Given the description of an element on the screen output the (x, y) to click on. 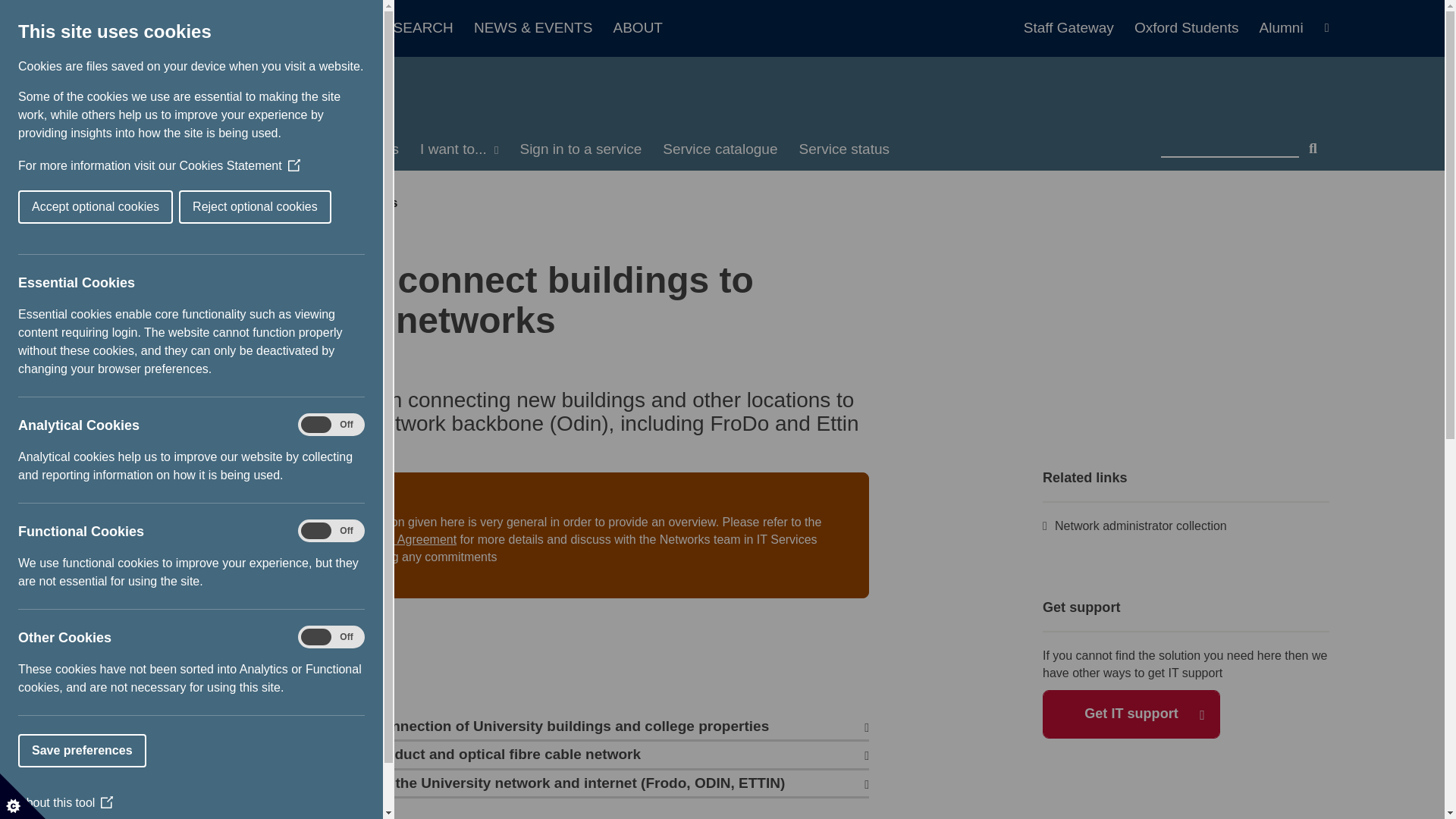
ADMISSIONS (315, 28)
RESEARCH (419, 28)
Reject optional cookies (49, 206)
Alumni (1281, 28)
Oxford Students (1193, 28)
I want to... (458, 148)
IT Help (272, 91)
Accounts and passwords (318, 148)
ADMISSIONS (315, 28)
ABOUT (637, 28)
ABOUT (637, 28)
RESEARCH (419, 28)
Oxford Students (1193, 28)
Enter the terms you wish to search for (1229, 142)
Search (1312, 142)
